Given the description of an element on the screen output the (x, y) to click on. 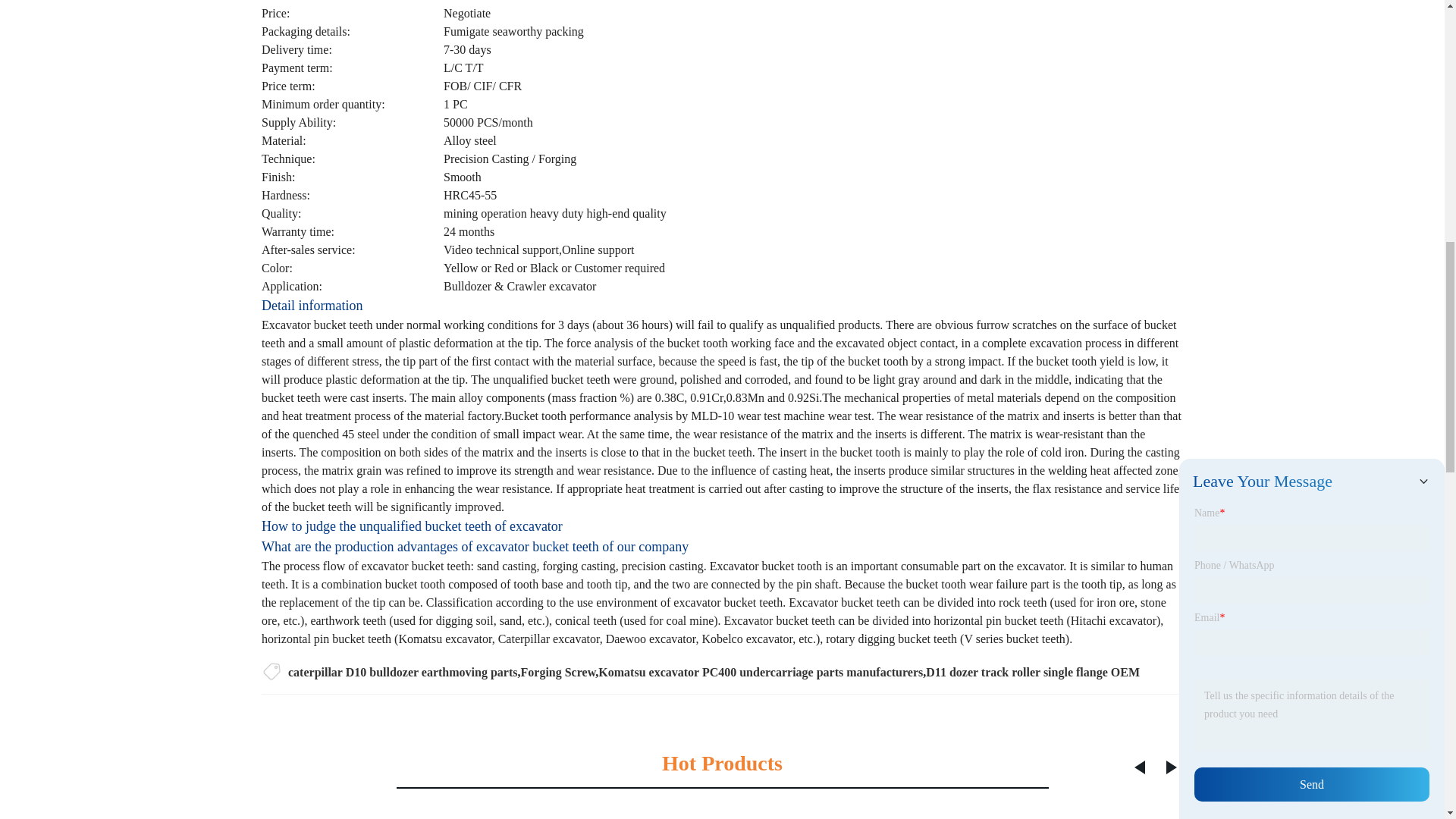
caterpillar D10 bulldozer earthmoving parts (403, 671)
